Given the description of an element on the screen output the (x, y) to click on. 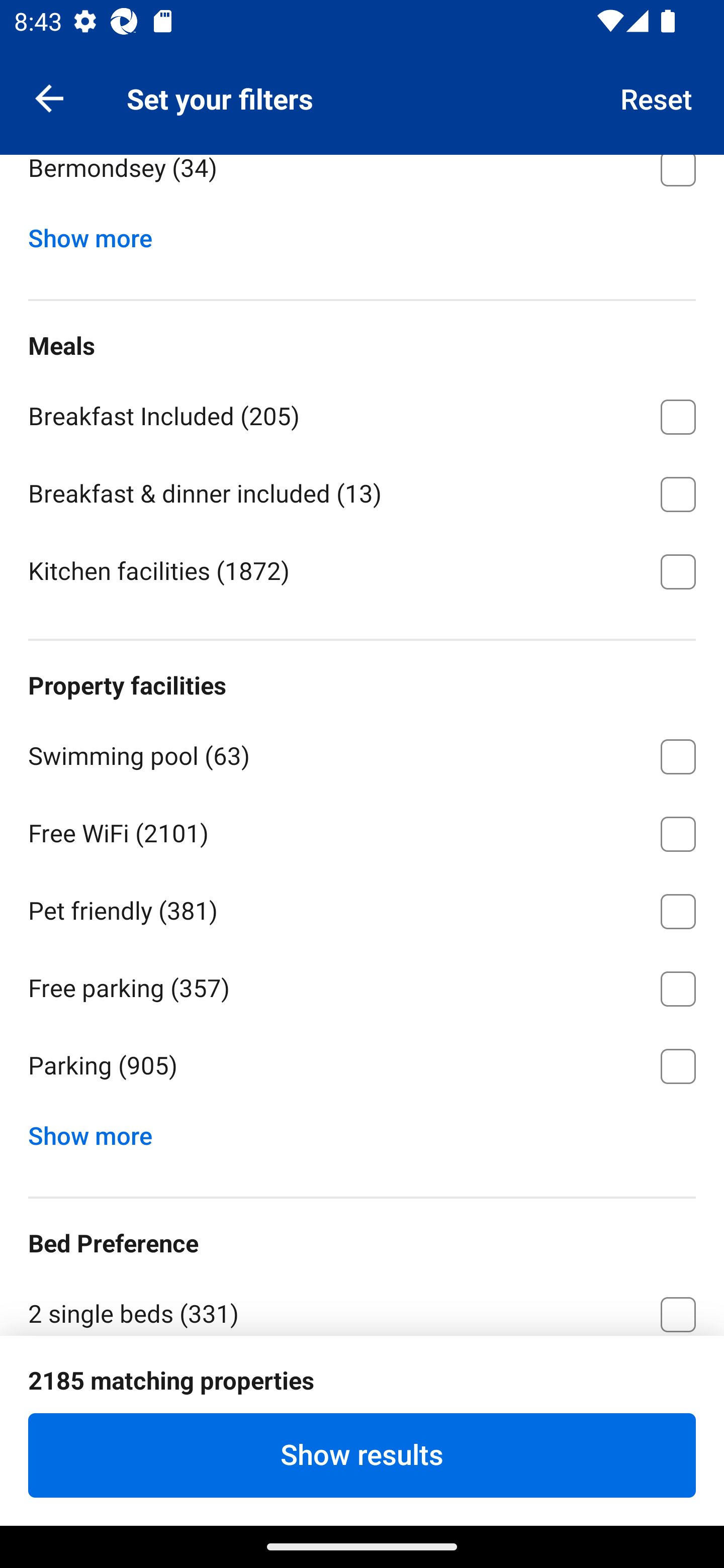
Navigate up (49, 97)
Kensington and Chelsea ⁦(226) (361, 87)
Reset (656, 97)
Bermondsey ⁦(34) (361, 183)
Show more (97, 234)
Breakfast Included ⁦(205) (361, 412)
Breakfast & dinner included ⁦(13) (361, 490)
Kitchen facilities ⁦(1872) (361, 569)
Swimming pool ⁦(63) (361, 753)
Free WiFi ⁦(2101) (361, 829)
Pet friendly ⁦(381) (361, 907)
Free parking ⁦(357) (361, 985)
Parking ⁦(905) (361, 1065)
Show more (97, 1131)
2 single beds ⁦(331) (361, 1304)
Double bed ⁦(2143) (361, 1390)
Show results (361, 1454)
